Given the description of an element on the screen output the (x, y) to click on. 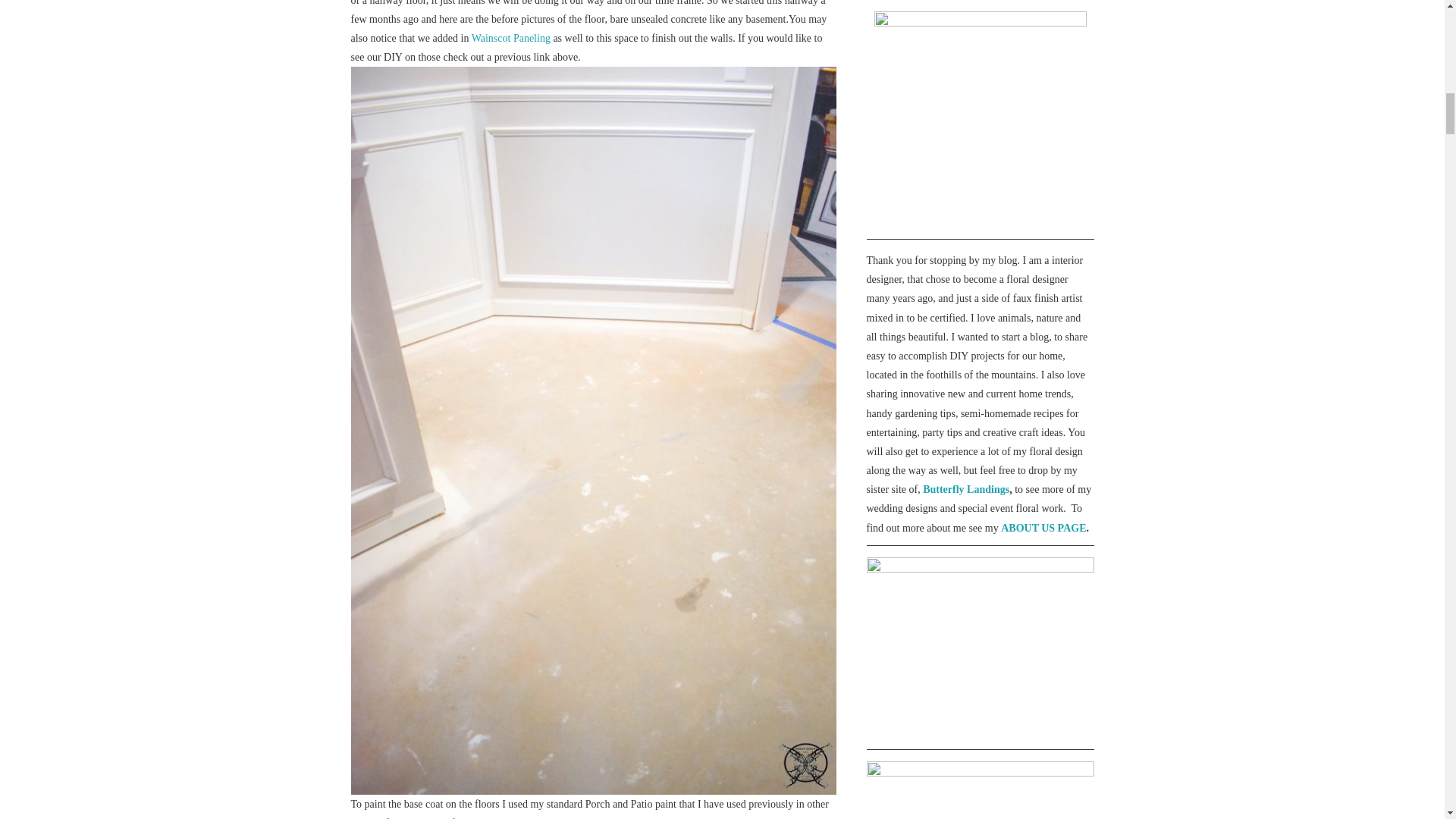
Wainscot Paneling (510, 38)
